Given the description of an element on the screen output the (x, y) to click on. 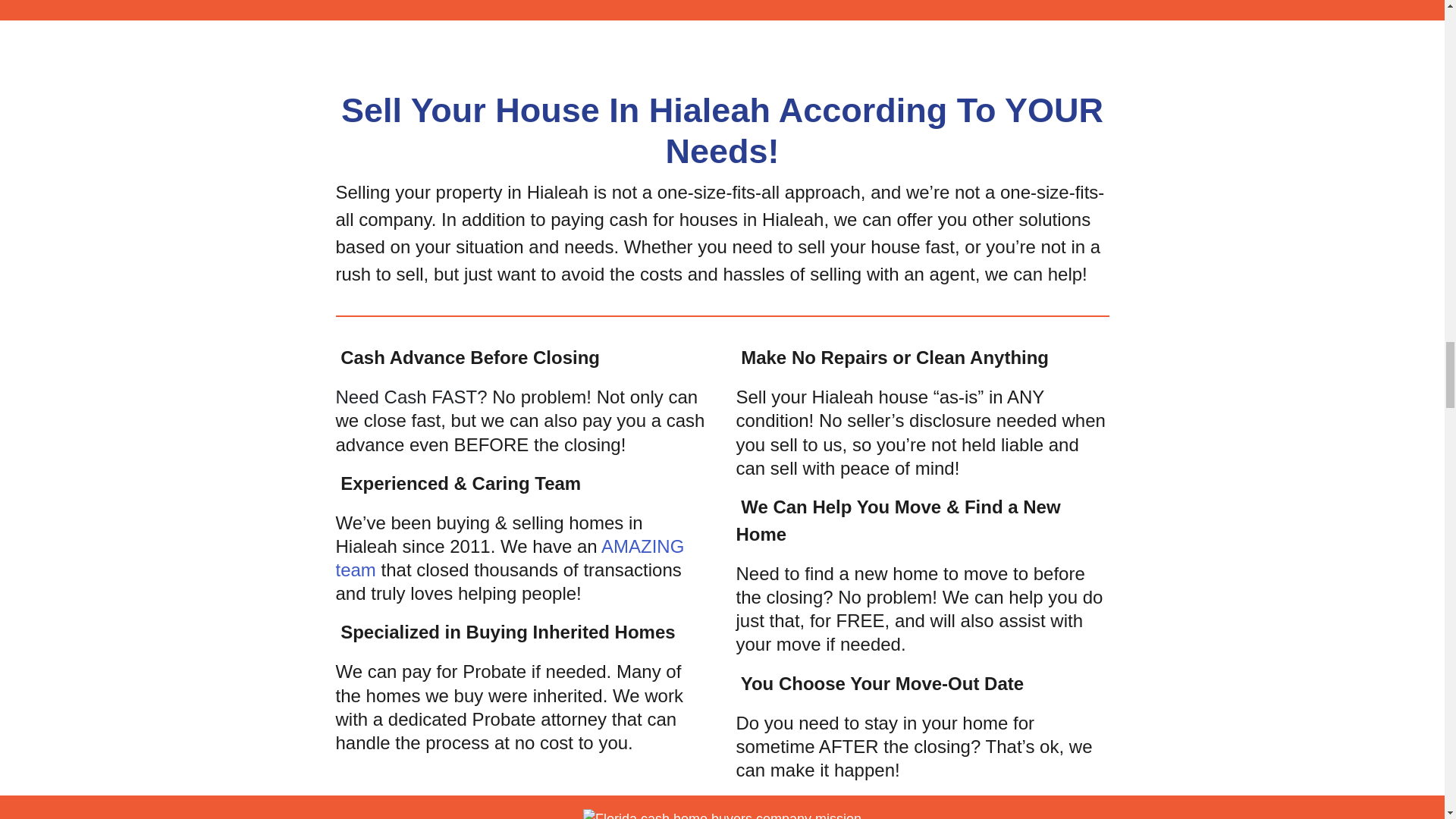
AMAZING team (509, 557)
